Given the description of an element on the screen output the (x, y) to click on. 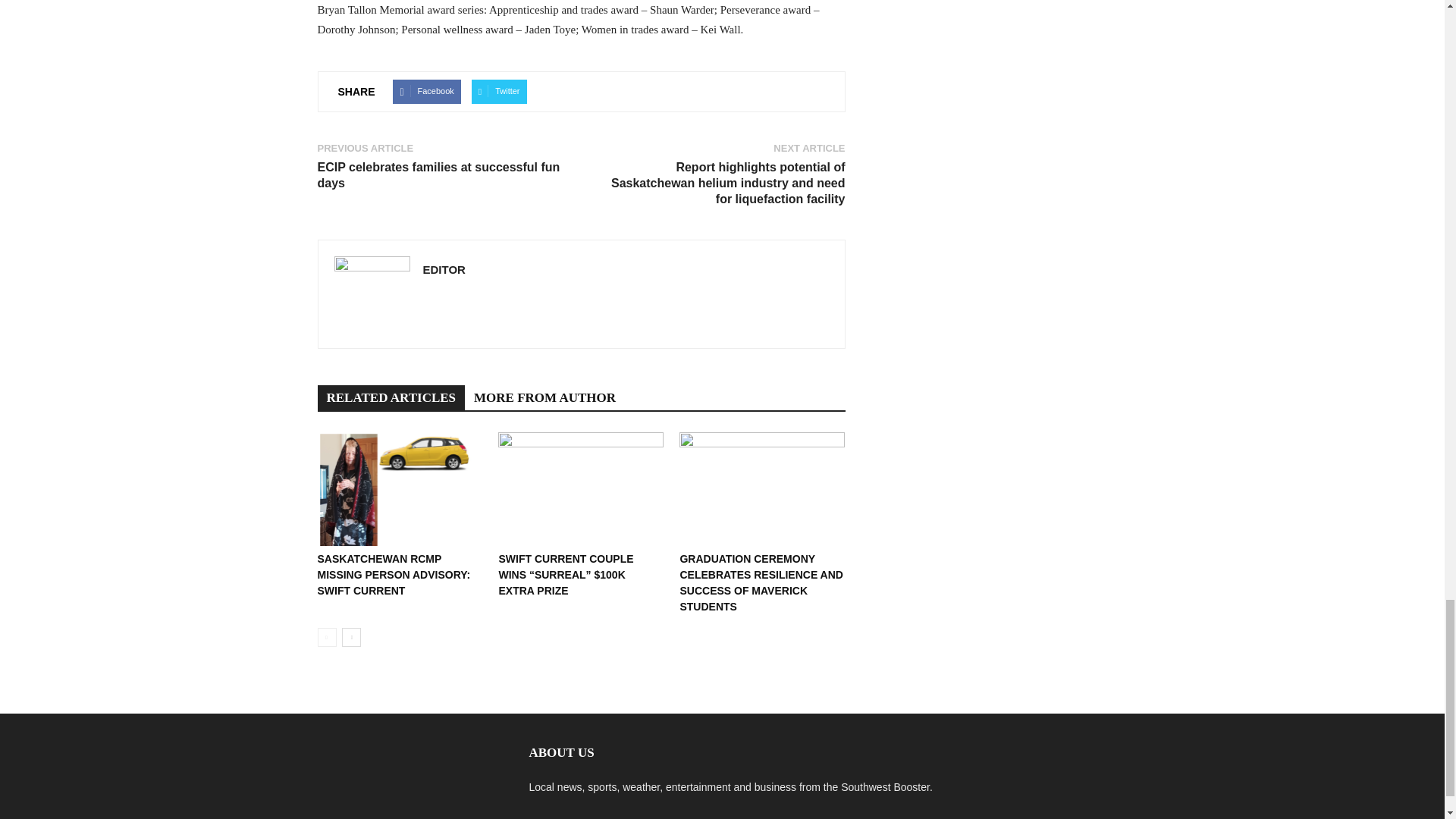
Twitter (499, 91)
ECIP celebrates families at successful fun days (439, 174)
Saskatchewan RCMP Missing Person Advisory: Swift Current (393, 574)
EDITOR (444, 269)
Facebook (426, 91)
Saskatchewan RCMP Missing Person Advisory: Swift Current (399, 489)
